Given the description of an element on the screen output the (x, y) to click on. 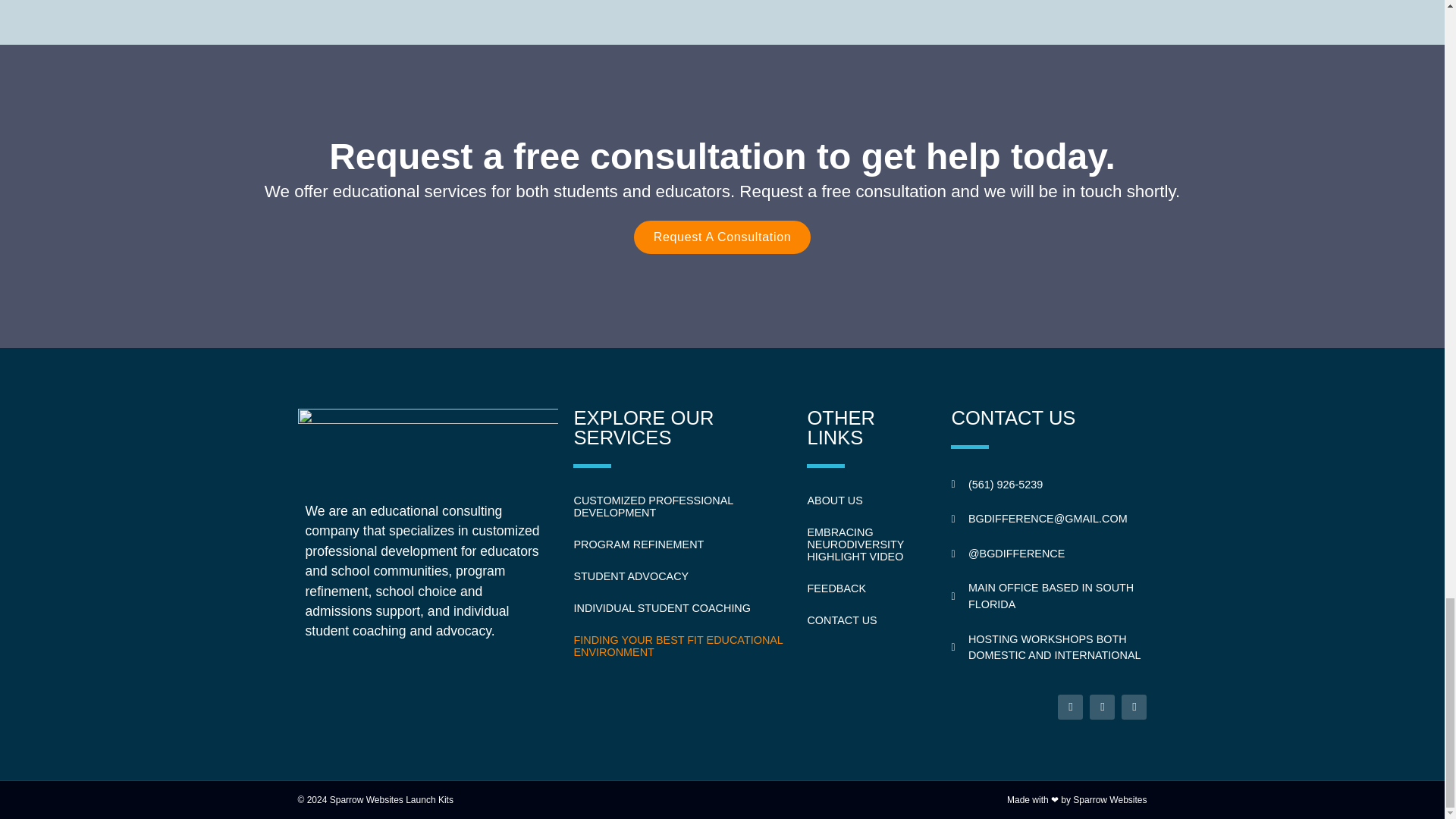
STUDENT ADVOCACY (682, 576)
PROGRAM REFINEMENT (682, 544)
CUSTOMIZED PROFESSIONAL DEVELOPMENT (682, 506)
INDIVIDUAL STUDENT COACHING (682, 608)
Request A Consultation (721, 236)
